Given the description of an element on the screen output the (x, y) to click on. 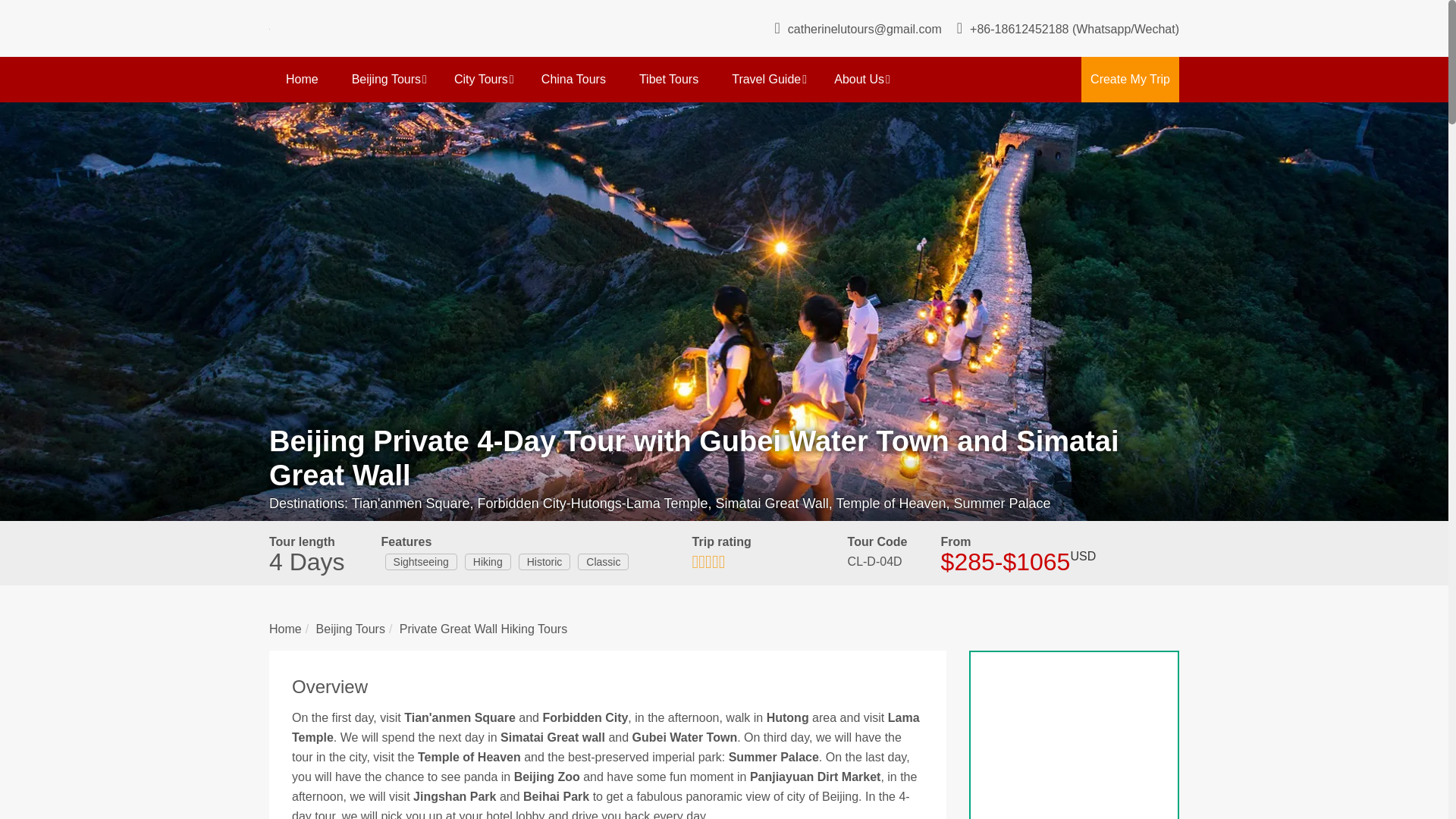
Travel Guide (765, 79)
Beijing Tours (386, 79)
Tibet Tours (668, 79)
Home (301, 79)
China Tours (573, 79)
City Tours (481, 79)
